Given the description of an element on the screen output the (x, y) to click on. 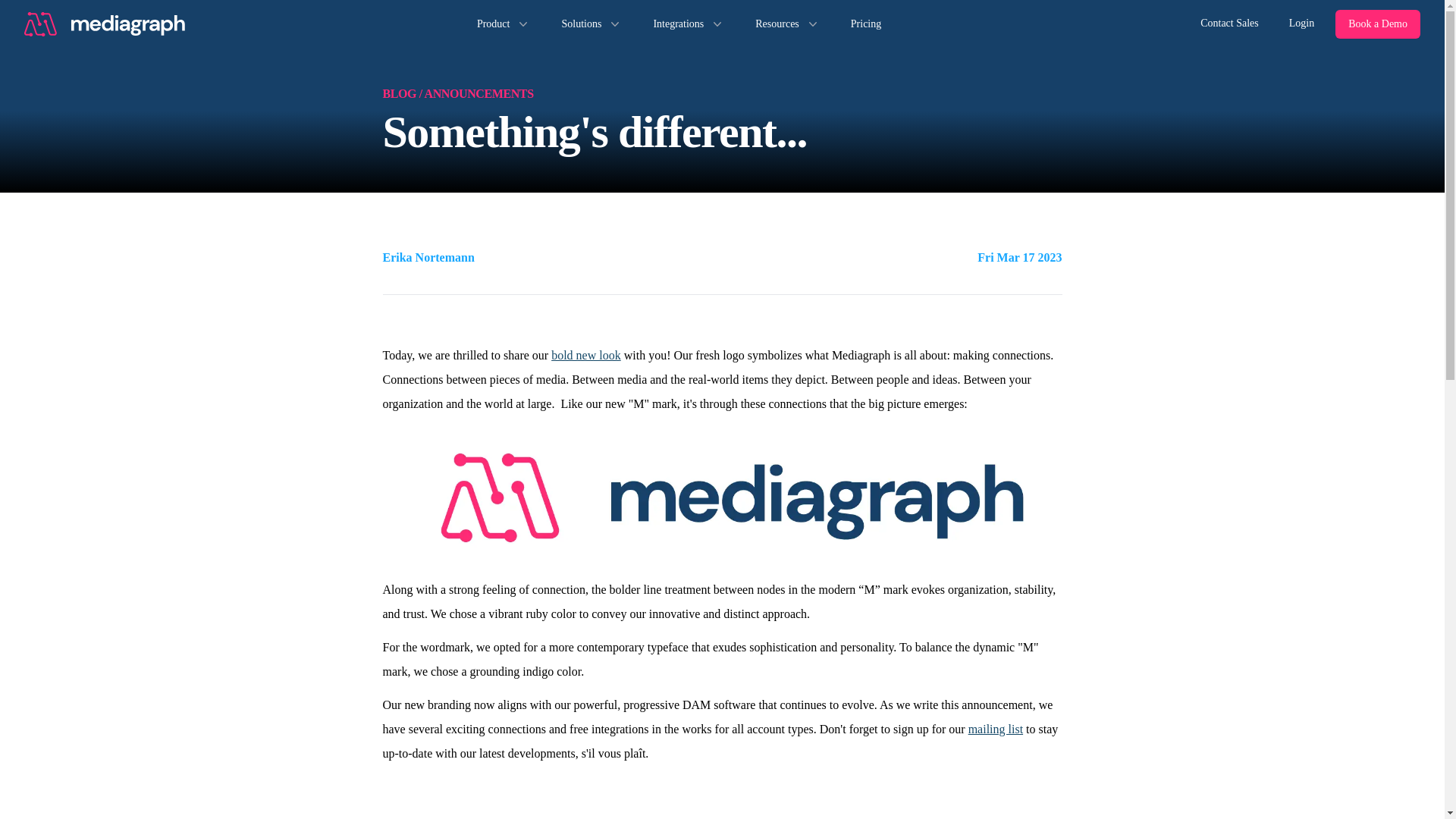
Pricing (865, 23)
Integrations (688, 23)
Contact Sales (1229, 23)
bold new look (586, 354)
mailing list (995, 728)
Login (1301, 23)
Book a Demo (1378, 23)
Product (503, 23)
Resources (787, 23)
Solutions (591, 23)
